Given the description of an element on the screen output the (x, y) to click on. 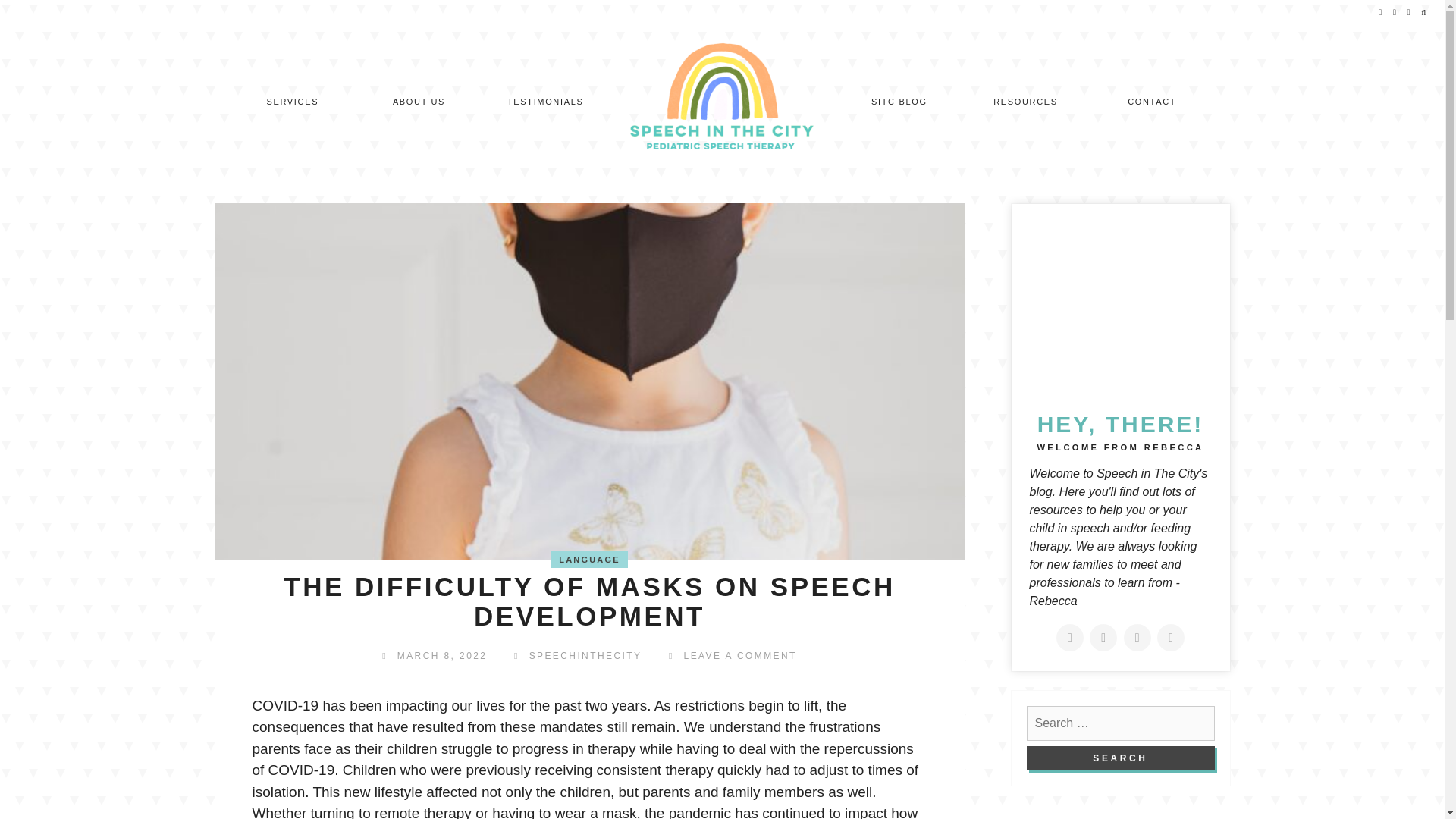
Search (1120, 758)
SERVICES (292, 101)
SITC BLOG (898, 101)
TESTIMONIALS (544, 101)
ABOUT US (419, 101)
Search (1120, 758)
